Given the description of an element on the screen output the (x, y) to click on. 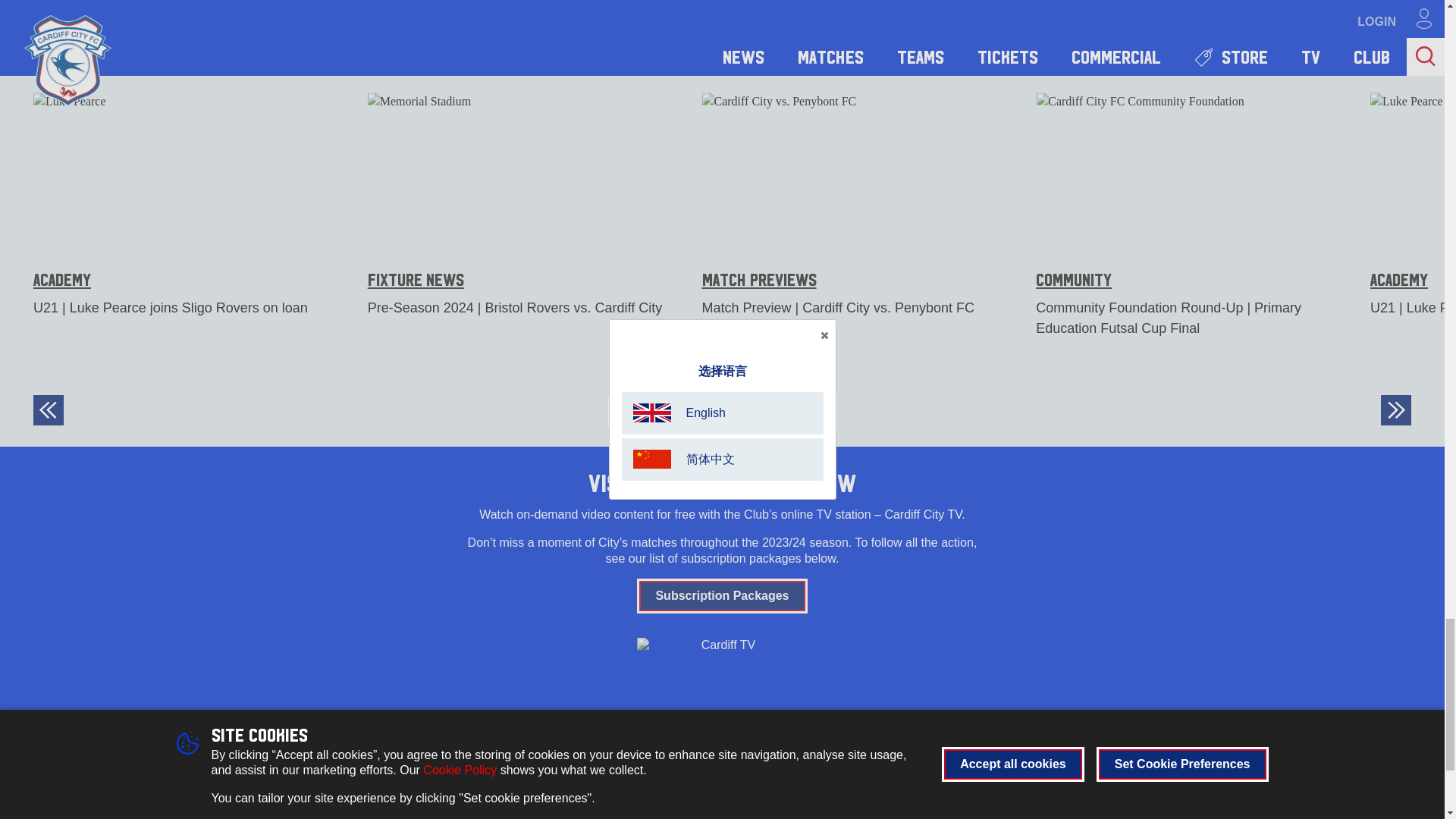
New Balance (813, 767)
Visit Malaysia (631, 768)
